Given the description of an element on the screen output the (x, y) to click on. 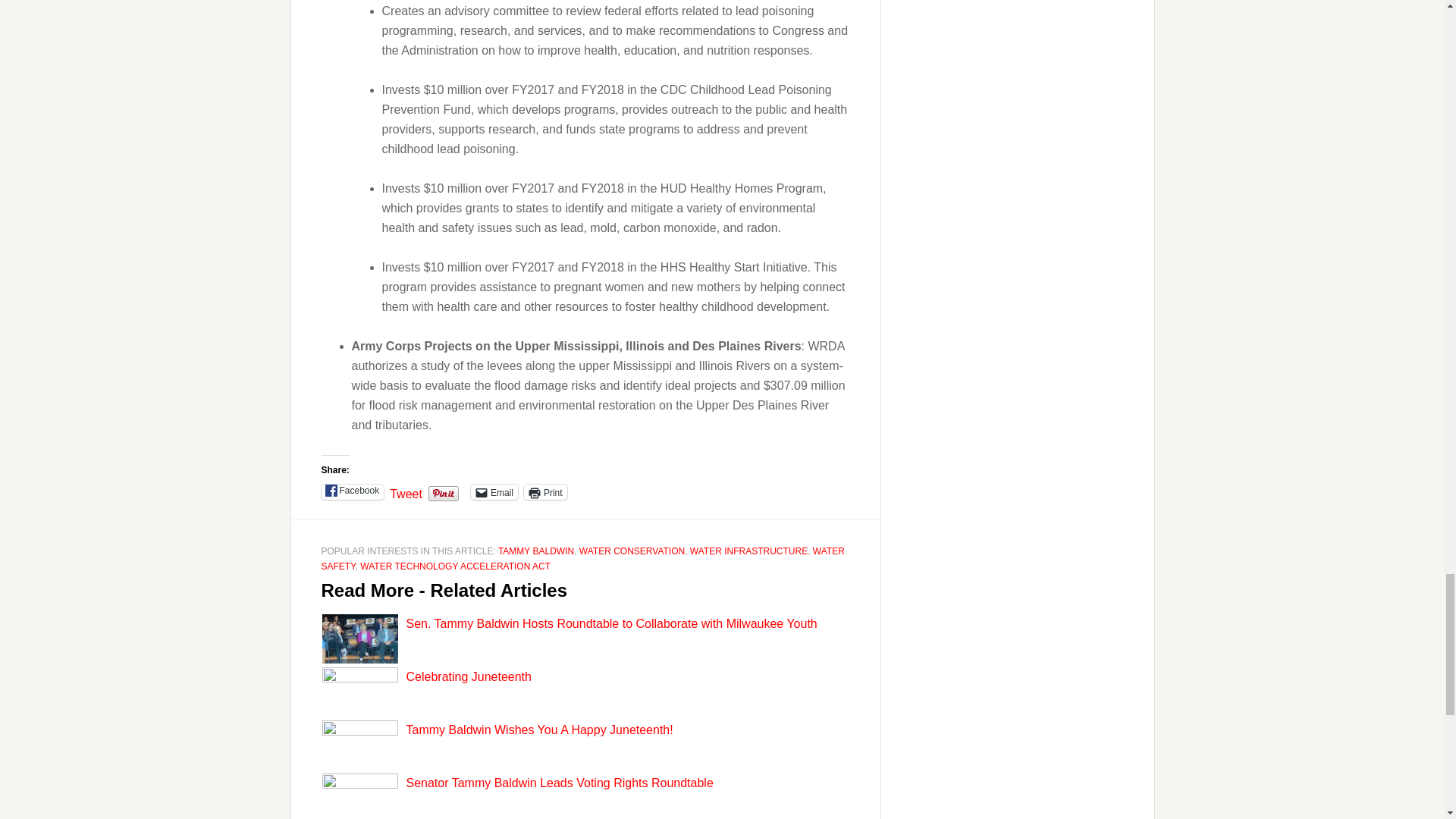
Facebook (352, 491)
Print (545, 491)
Celebrating Juneteenth (468, 676)
WATER TECHNOLOGY ACCELERATION ACT (454, 566)
Celebrating Juneteenth (468, 676)
Email (494, 491)
Tammy Baldwin Wishes You A Happy Juneteenth! (539, 729)
Senator Tammy Baldwin Leads Voting Rights Roundtable (559, 782)
TAMMY BALDWIN (535, 551)
